Given the description of an element on the screen output the (x, y) to click on. 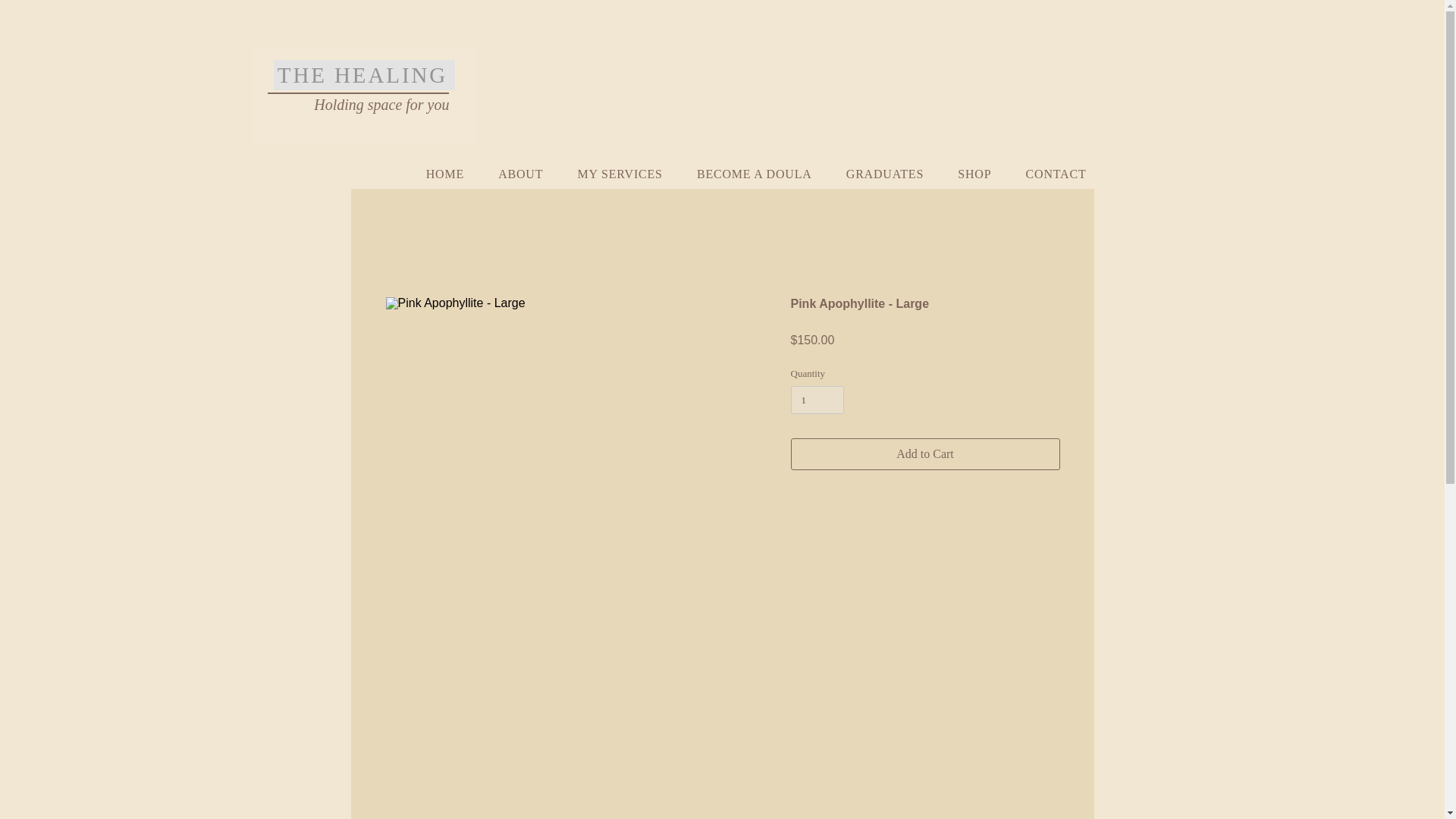
CONTACT (1048, 174)
THE HEALING (363, 74)
Add to Cart (924, 454)
SHOP (967, 174)
GRADUATES (878, 174)
1 (817, 399)
HOME (437, 174)
BECOME A DOULA (748, 174)
MY SERVICES (612, 174)
ABOUT (513, 174)
